Given the description of an element on the screen output the (x, y) to click on. 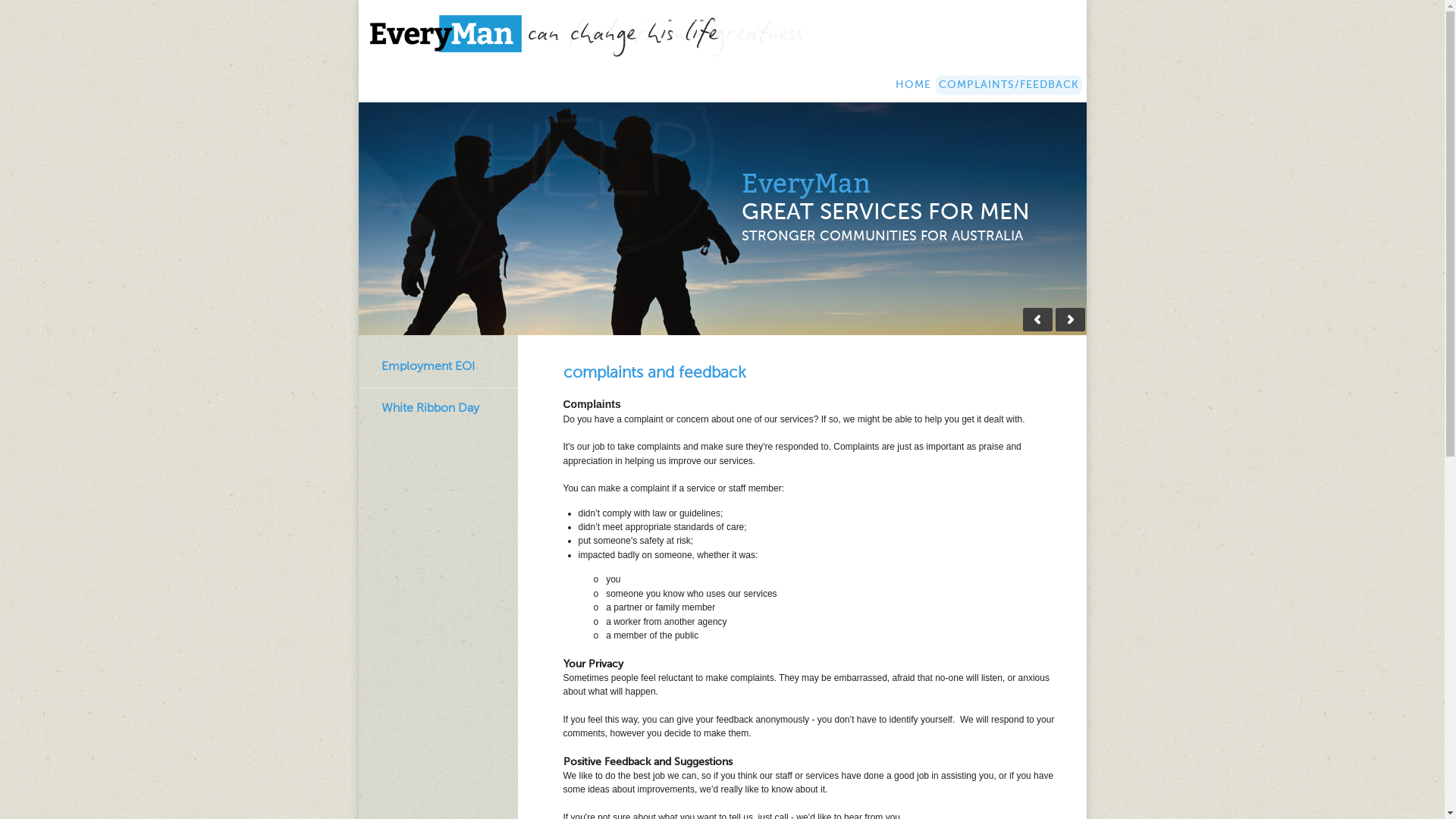
White Ribbon Day Element type: text (429, 407)
COMPLAINTS/FEEDBACK Element type: text (1008, 84)
HOME Element type: text (912, 84)
Employment EOI Element type: text (426, 366)
